Given the description of an element on the screen output the (x, y) to click on. 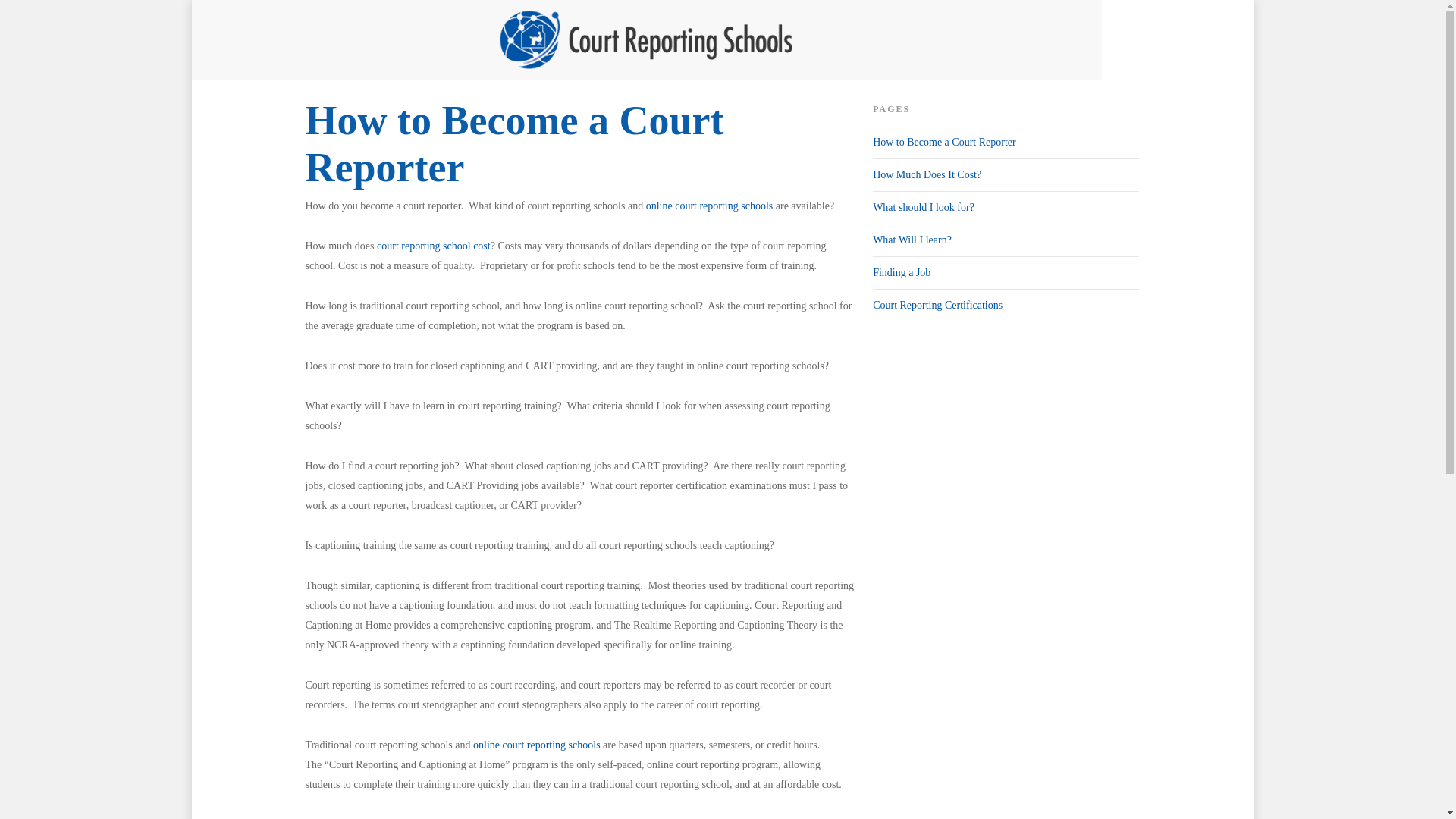
How to Become a Court Reporter (1005, 145)
How Much Does It Cost? (1005, 174)
Finding a Job (1005, 273)
court reporting school cost (433, 245)
What should I look for? (1005, 207)
What Will I learn? (1005, 240)
online court reporting schools (709, 205)
online court reporting schools (536, 745)
Court Reporting Certifications (1005, 305)
